Given the description of an element on the screen output the (x, y) to click on. 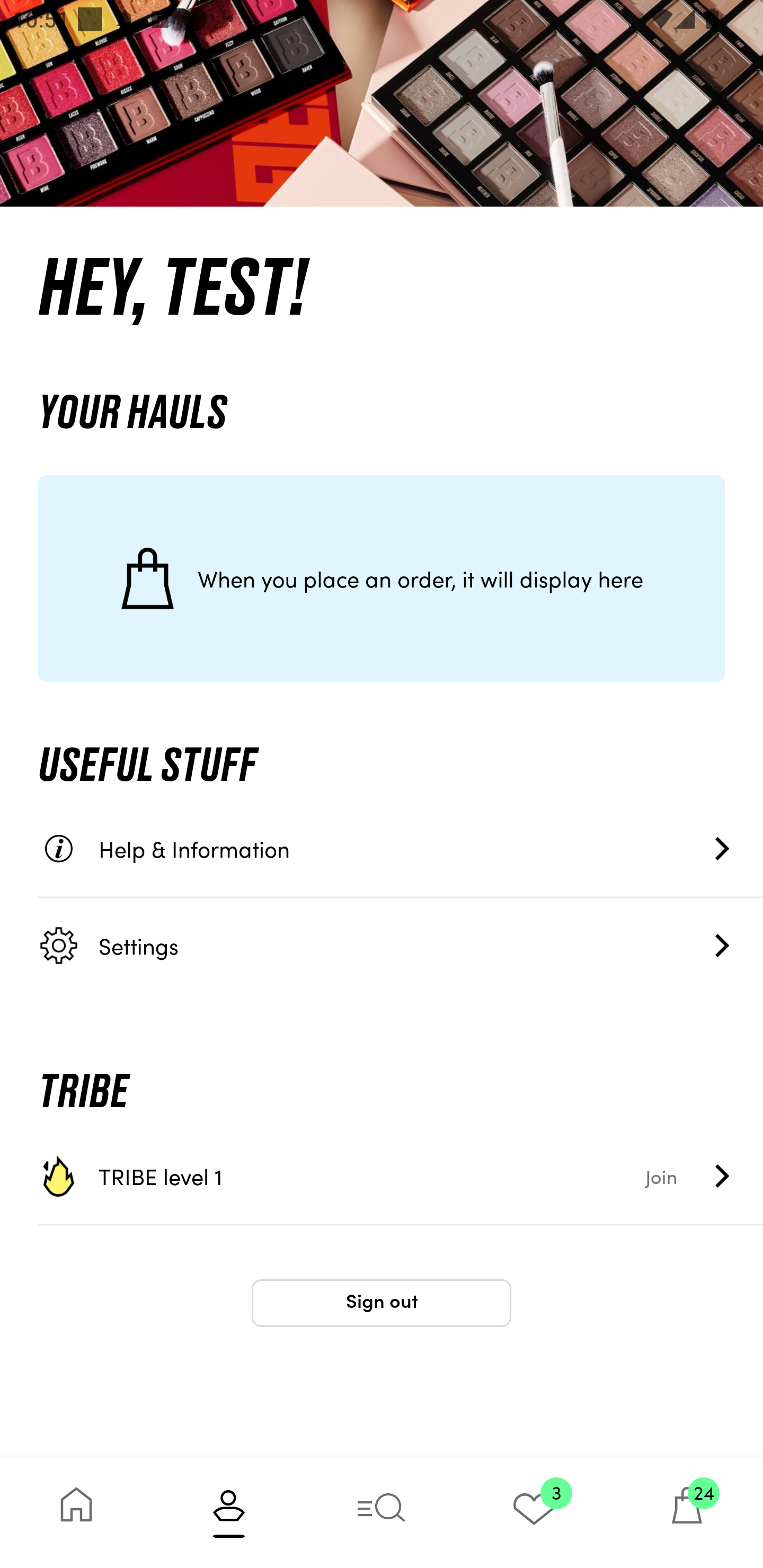
Help & Information (400, 848)
Settings (400, 945)
TRIBE level 1 Join (400, 1175)
Sign out (381, 1302)
3 (533, 1512)
24 (686, 1512)
